Given the description of an element on the screen output the (x, y) to click on. 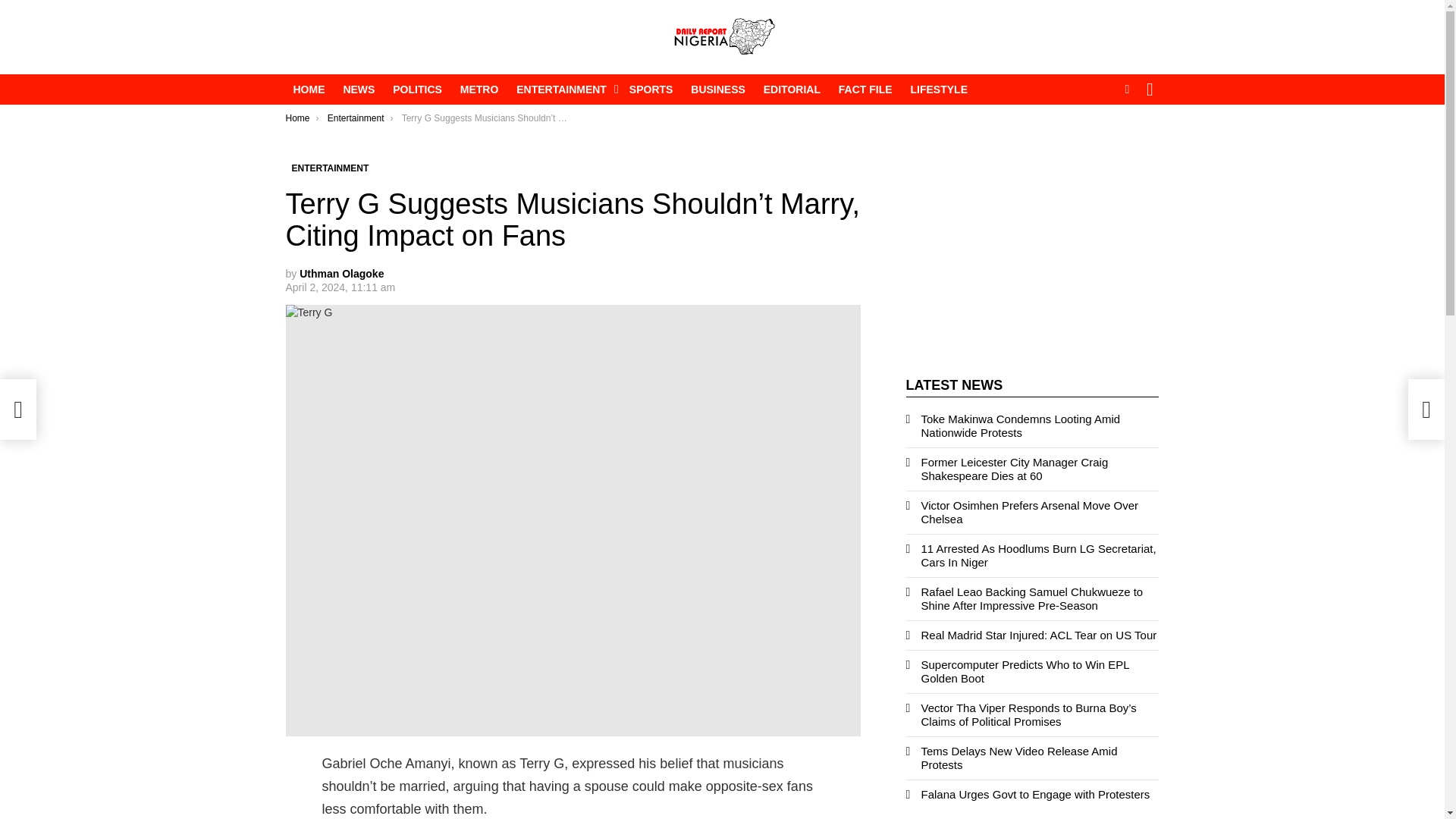
ENTERTAINMENT (563, 88)
SPORTS (651, 88)
METRO (479, 88)
FACT FILE (865, 88)
NEWS (357, 88)
POLITICS (417, 88)
EDITORIAL (791, 88)
Posts by Uthman Olagoke (341, 273)
LIFESTYLE (938, 88)
BUSINESS (717, 88)
HOME (308, 88)
